Given the description of an element on the screen output the (x, y) to click on. 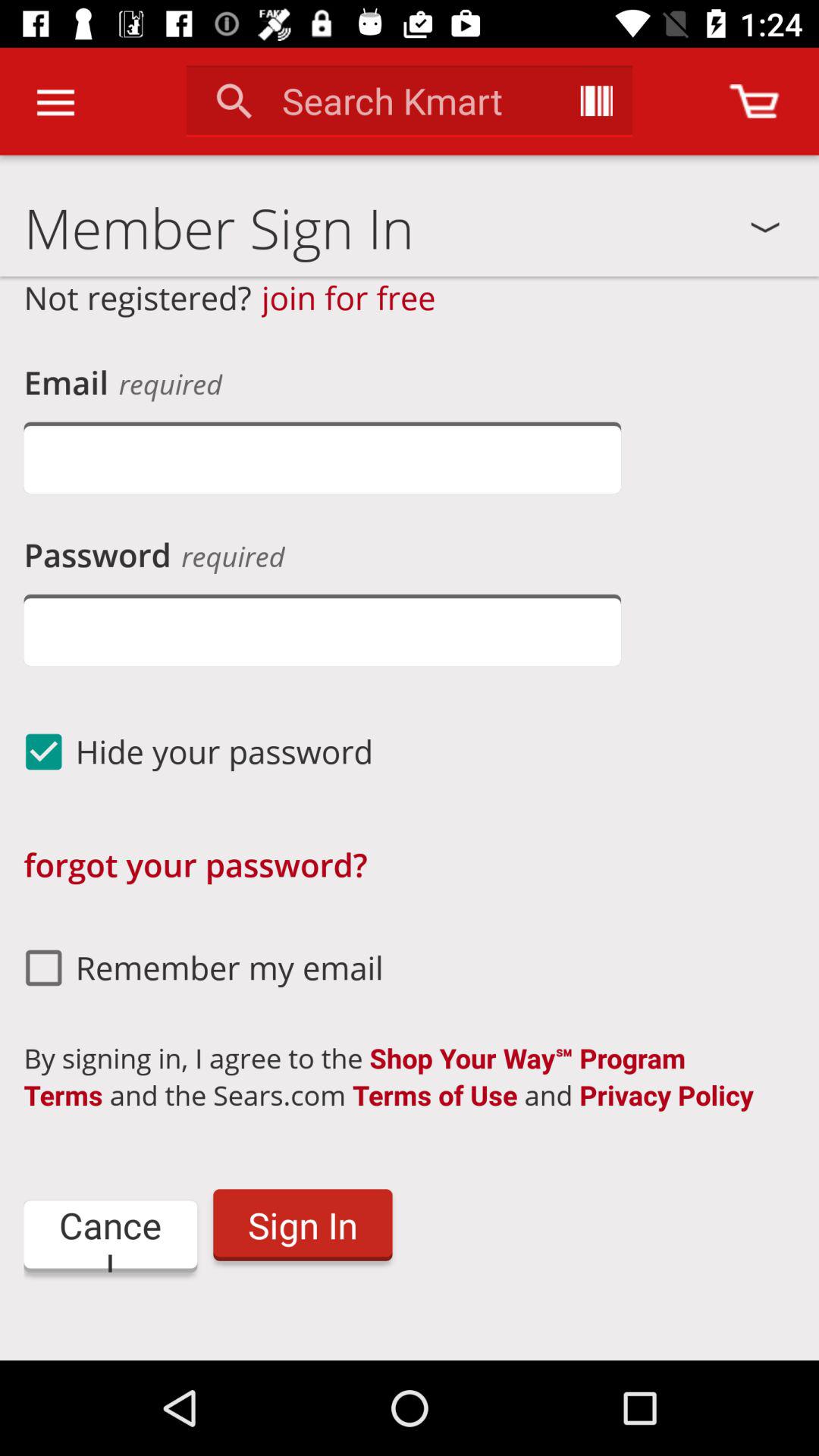
choose icon below the forgot your password? (197, 967)
